Given the description of an element on the screen output the (x, y) to click on. 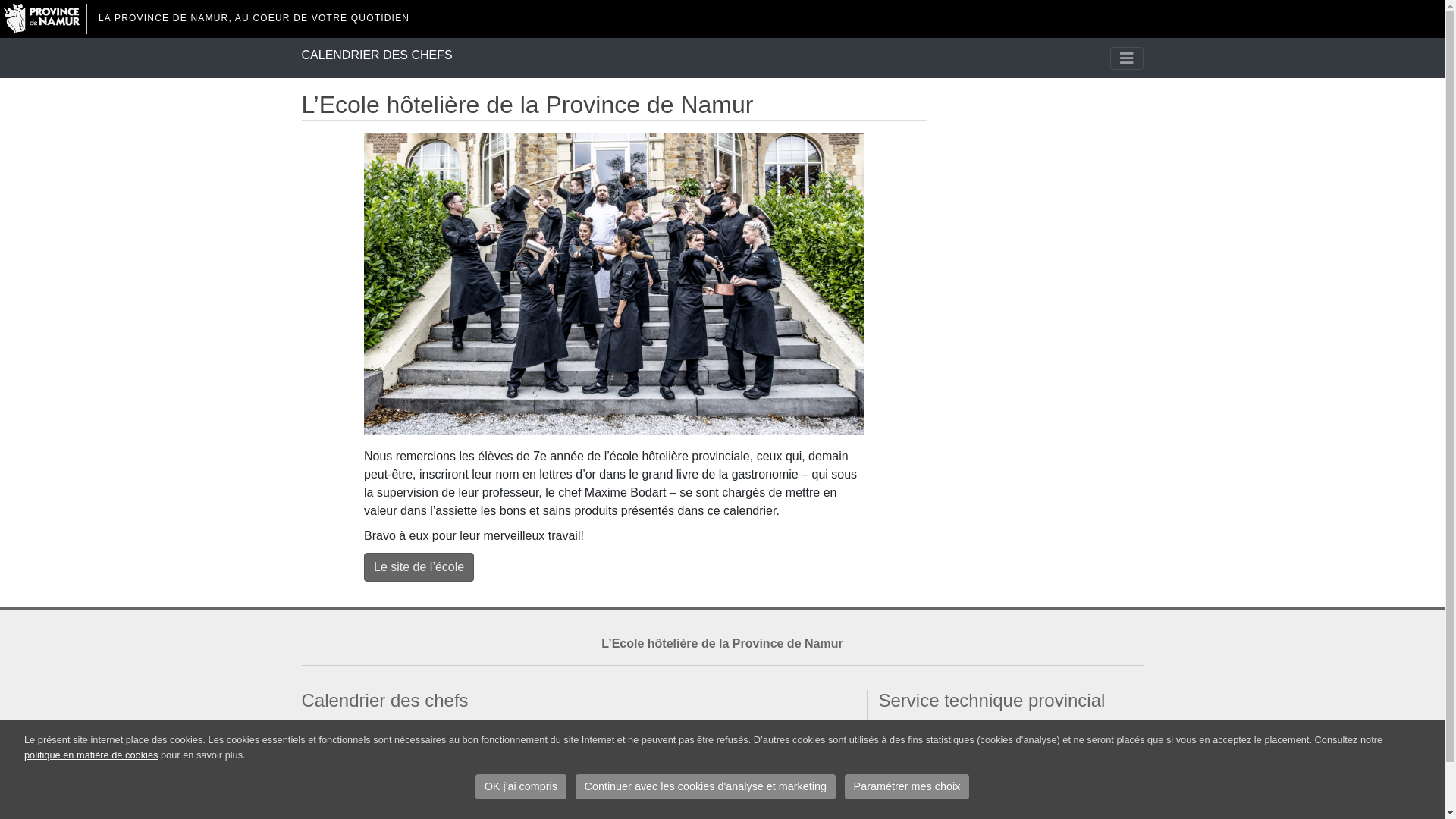
Continuer avec les cookies d'analyse et marketing Element type: text (705, 787)
CALENDRIER DES CHEFS Element type: text (376, 57)
www.province.namur.be Element type: text (942, 771)
Retrouvez-nous sur Instagram Element type: text (958, 808)
Retrouvez-nous sur Facebook Element type: text (957, 790)
OK j'ai compris Element type: text (520, 787)
